Given the description of an element on the screen output the (x, y) to click on. 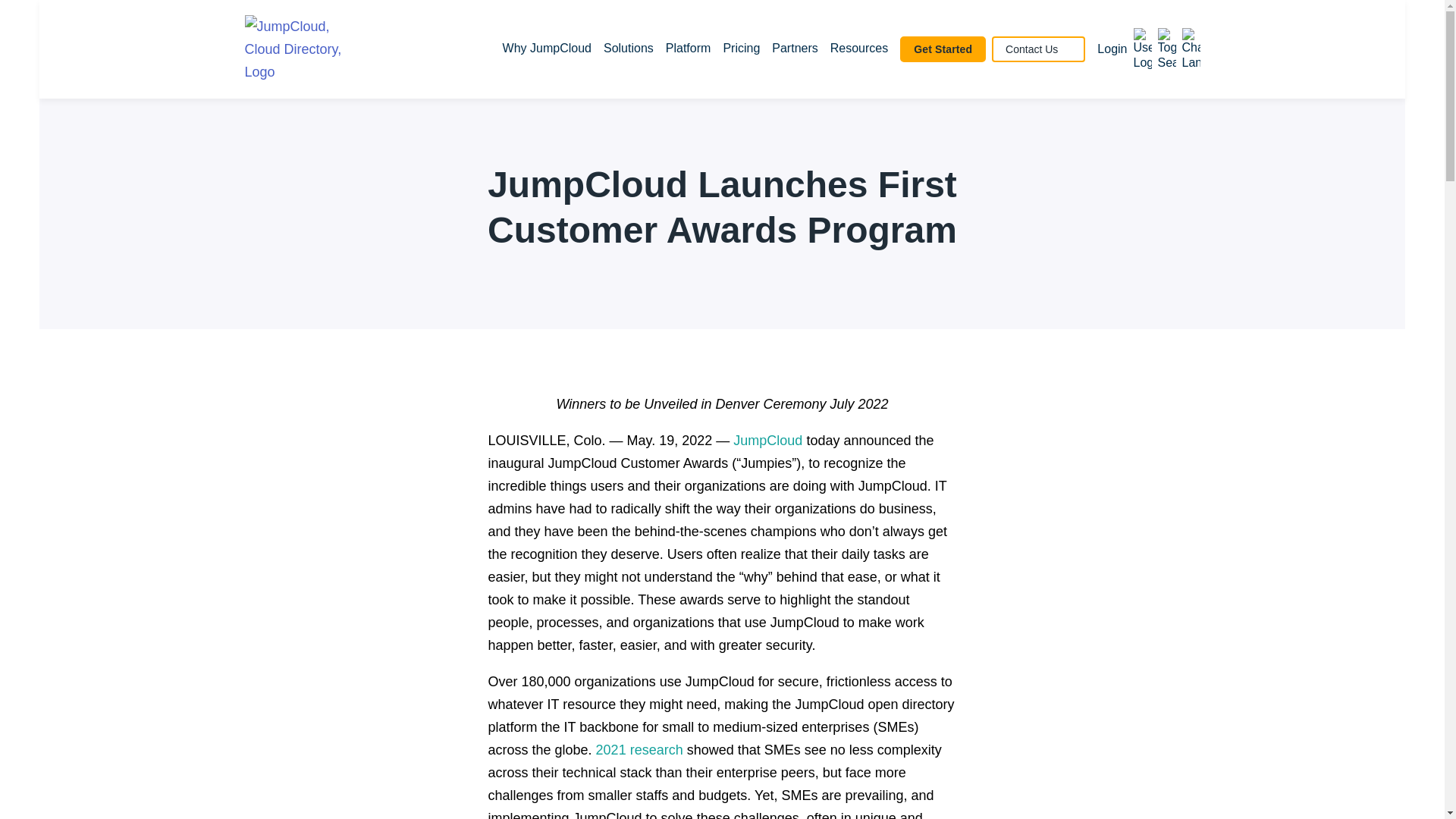
Why JumpCloud (546, 48)
Solutions (628, 48)
Platform (688, 48)
